Given the description of an element on the screen output the (x, y) to click on. 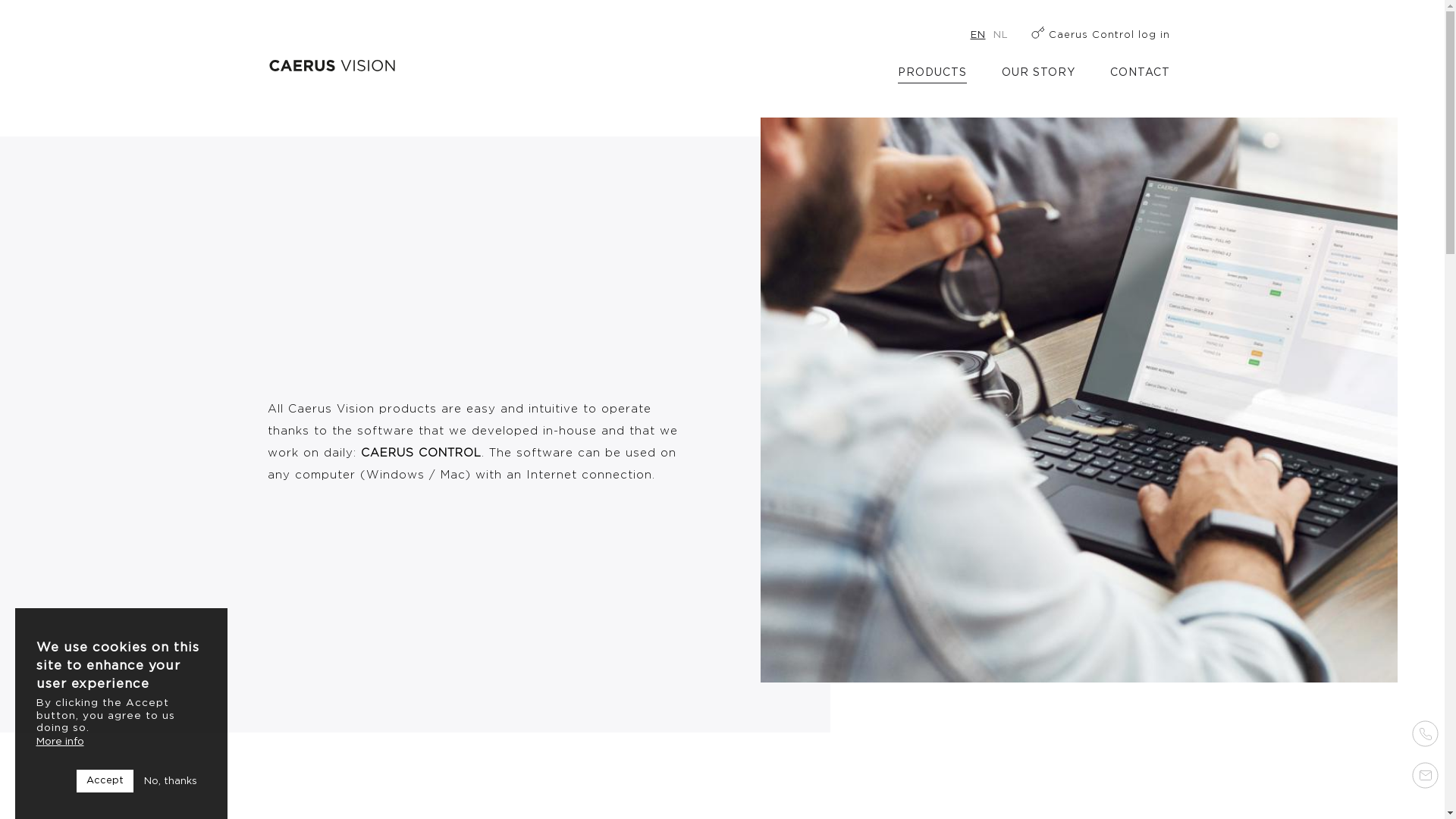
CONTACT Element type: text (1140, 75)
OUR STORY Element type: text (1037, 75)
Accept Element type: text (103, 780)
No, thanks Element type: text (170, 780)
  Element type: text (1414, 768)
Home Element type: hover (330, 65)
EN Element type: text (977, 35)
NL Element type: text (1000, 35)
PRODUCTS Element type: text (931, 75)
Skip to main content Element type: text (0, 60)
More info Element type: text (60, 740)
Caerus Control log in Element type: text (1100, 35)
